Given the description of an element on the screen output the (x, y) to click on. 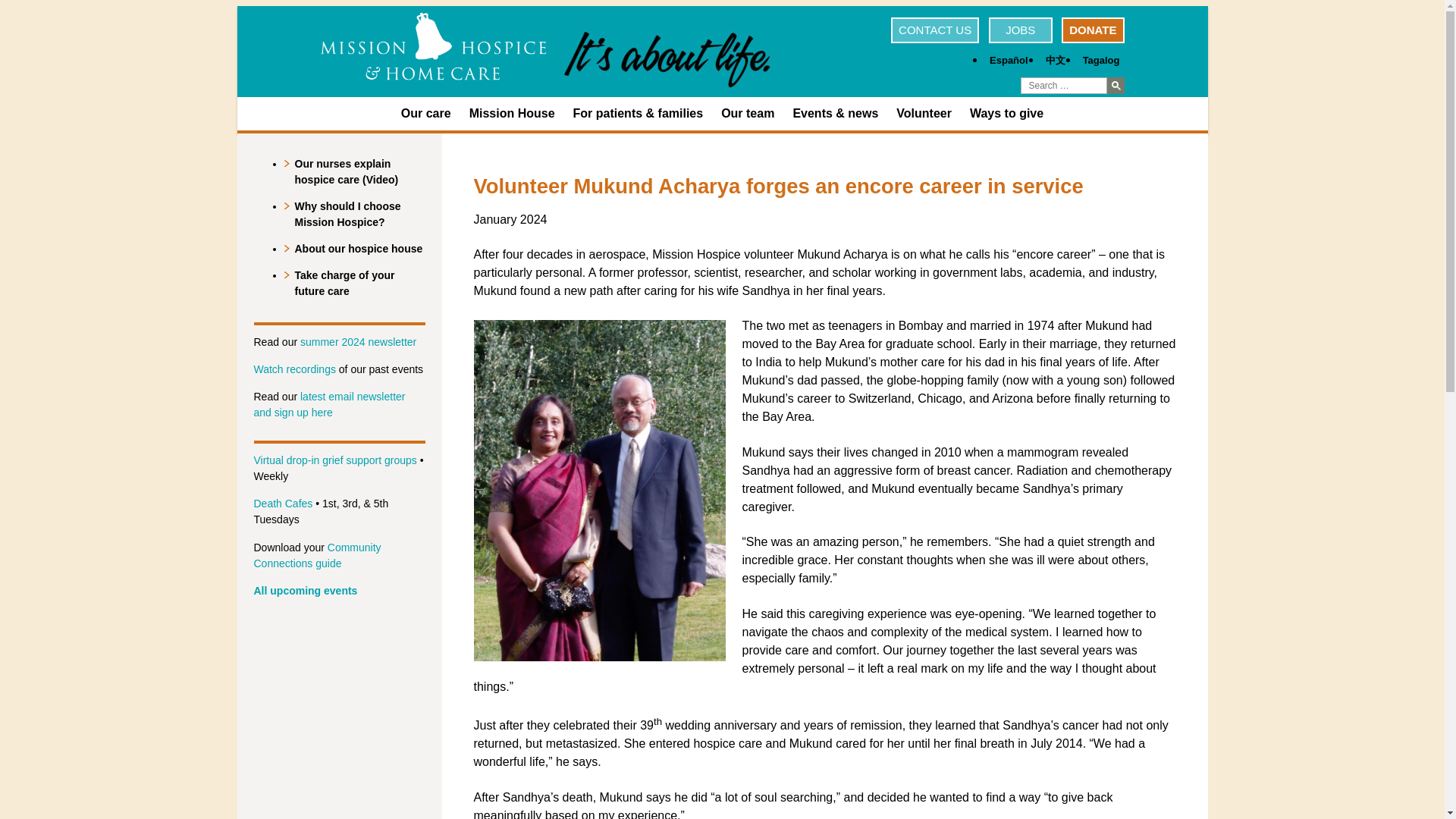
Search (1115, 85)
Search (1115, 85)
